Given the description of an element on the screen output the (x, y) to click on. 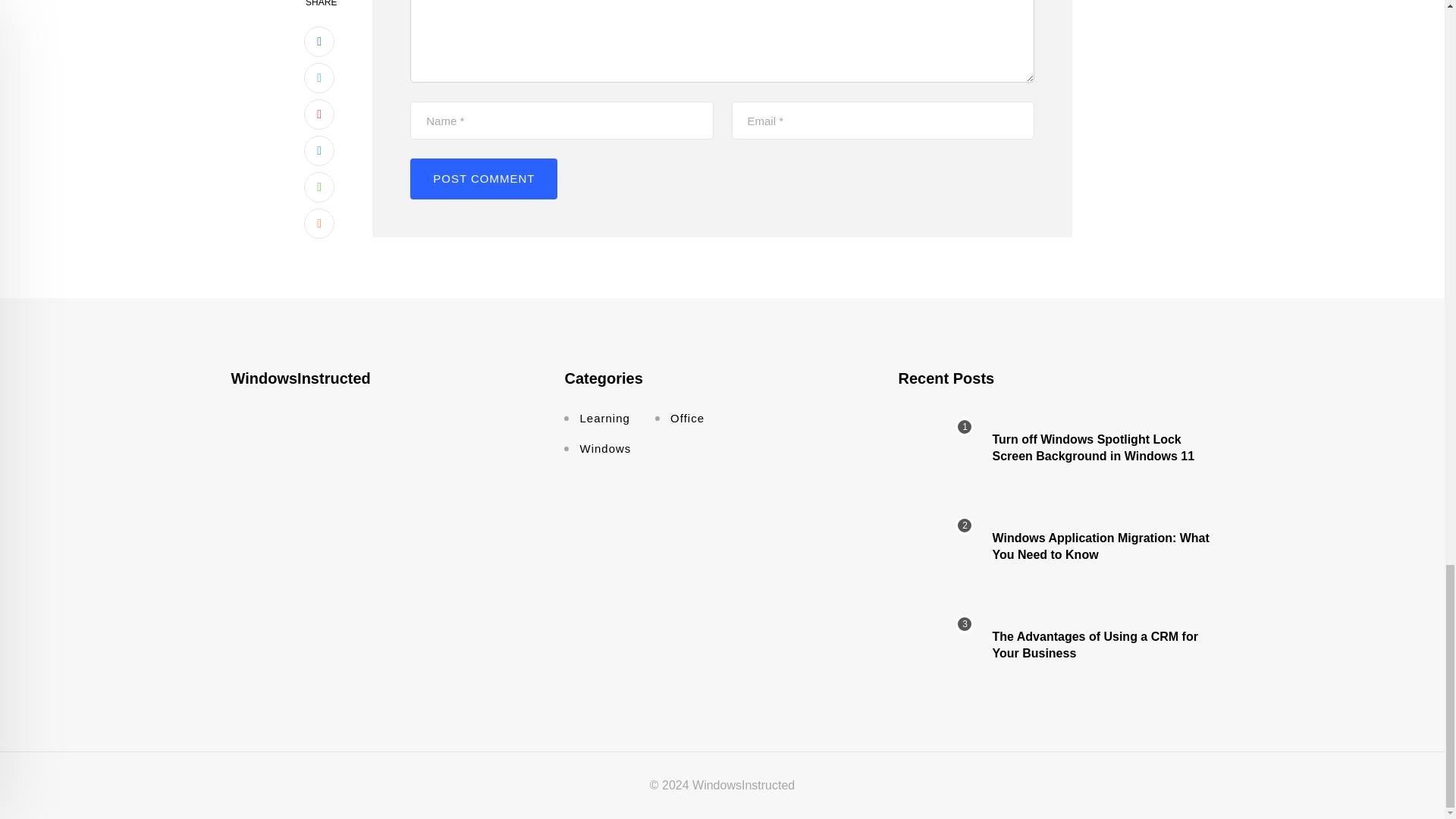
Post Comment (483, 178)
The Advantages of Using a CRM for Your Business (936, 645)
Windows Application Migration: What You Need to Know (936, 546)
